Given the description of an element on the screen output the (x, y) to click on. 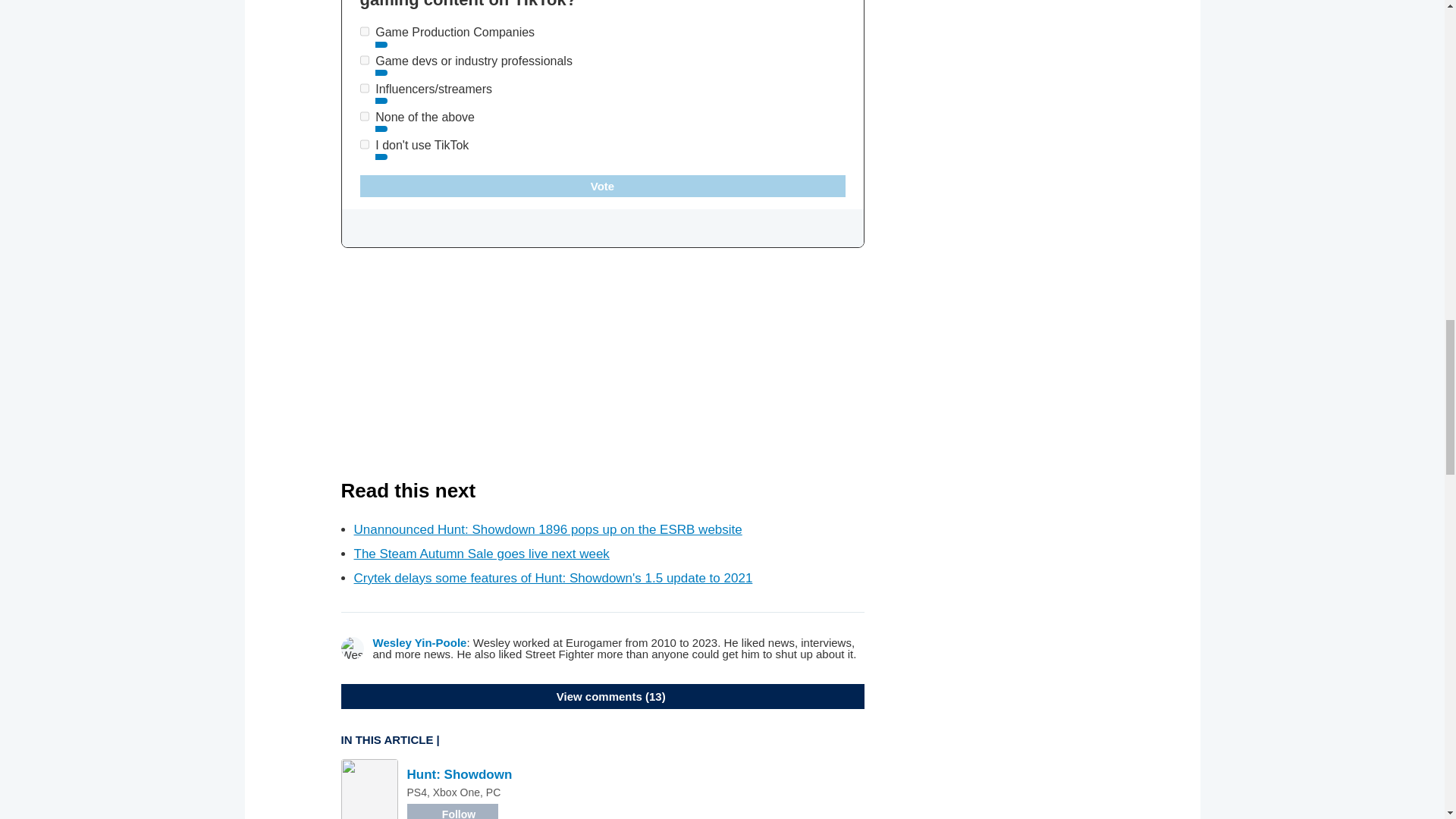
Wesley Yin-Poole (419, 642)
Hunt: Showdown (459, 774)
The Steam Autumn Sale goes live next week (480, 554)
Follow (451, 811)
on (364, 31)
on (364, 60)
Unannounced Hunt: Showdown 1896 pops up on the ESRB website (547, 529)
on (364, 116)
Vote (601, 186)
on (364, 144)
